Given the description of an element on the screen output the (x, y) to click on. 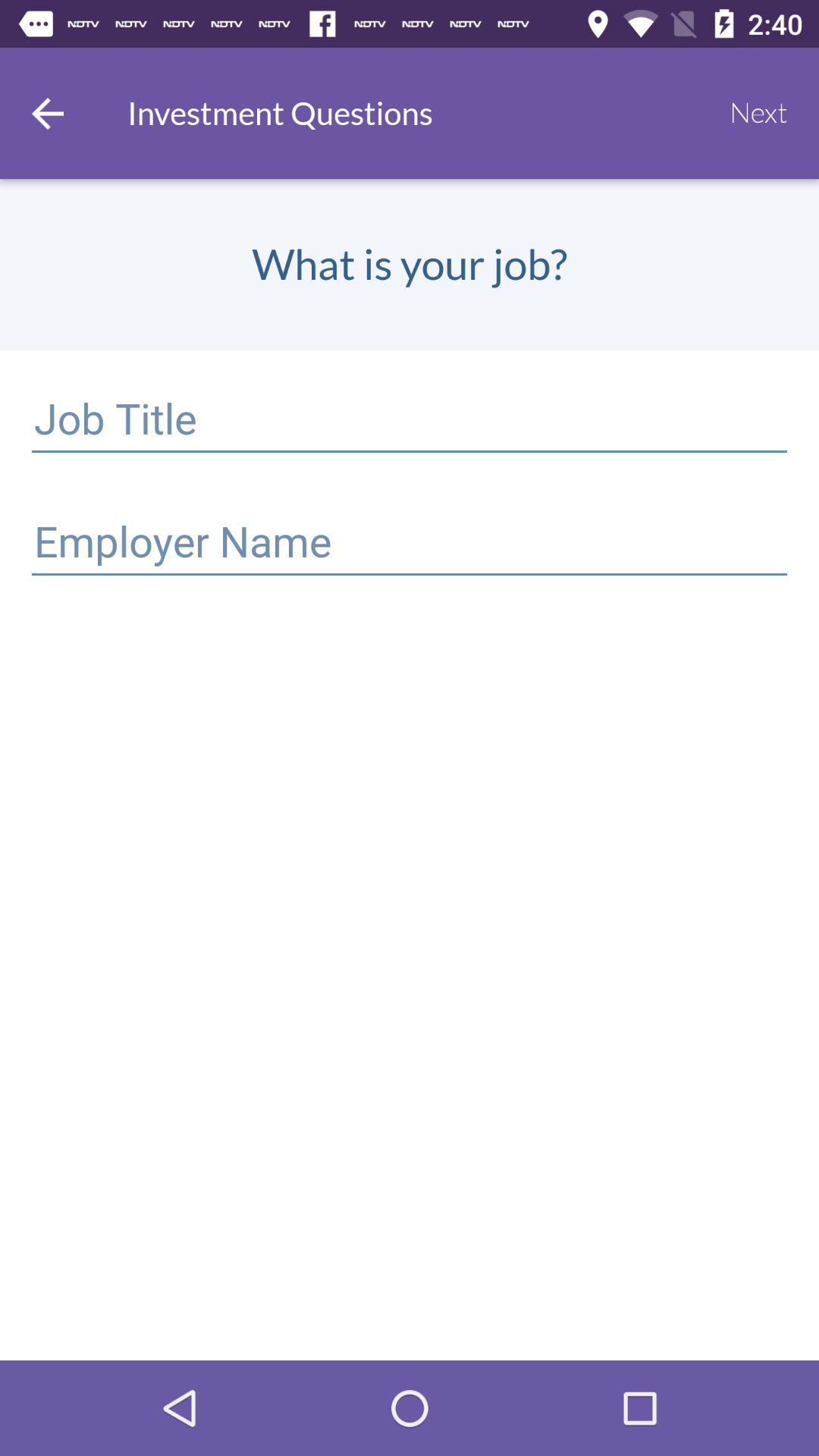
enter job title (409, 421)
